Given the description of an element on the screen output the (x, y) to click on. 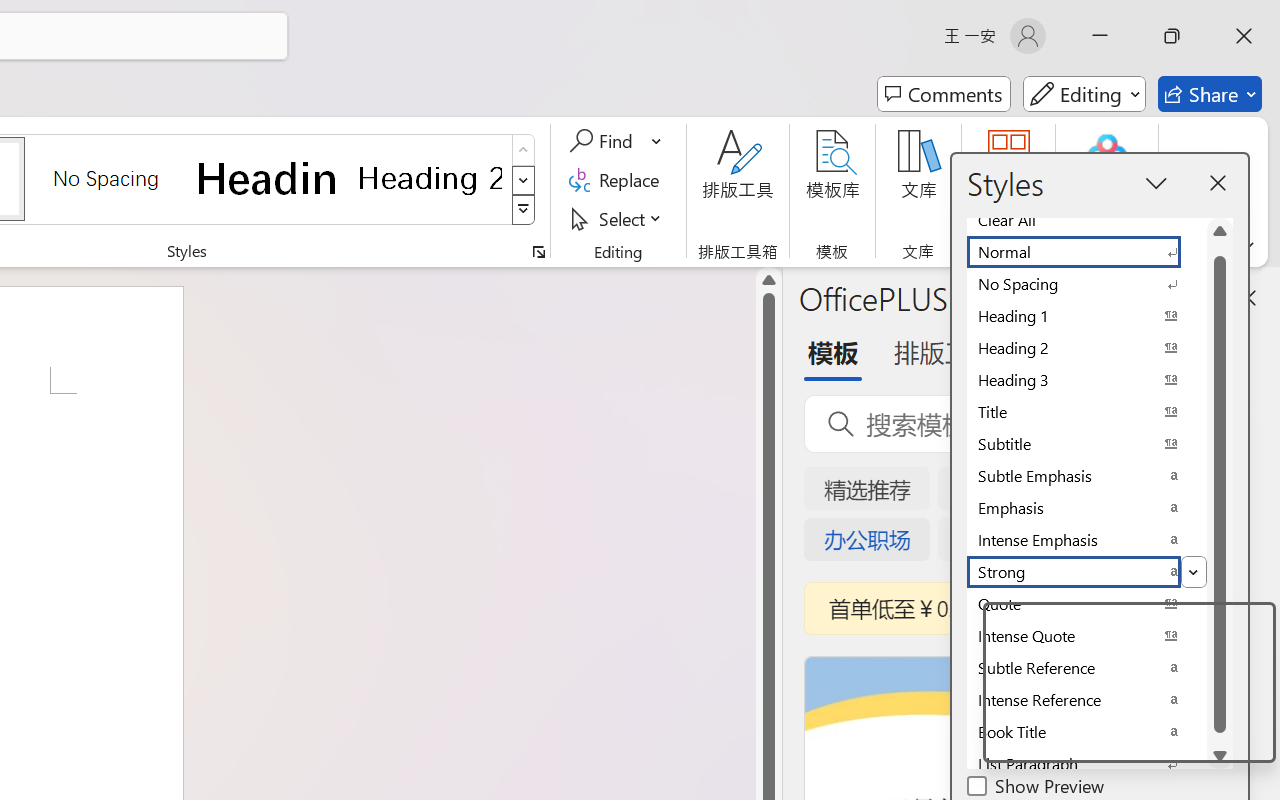
Normal (1086, 252)
List Paragraph (1086, 764)
Book Title (1086, 732)
Close (1244, 36)
Heading 2 (429, 178)
Strong (1086, 572)
Restore Down (1172, 36)
Title (1086, 412)
Row Down (523, 180)
Ribbon Display Options (1246, 245)
